Given the description of an element on the screen output the (x, y) to click on. 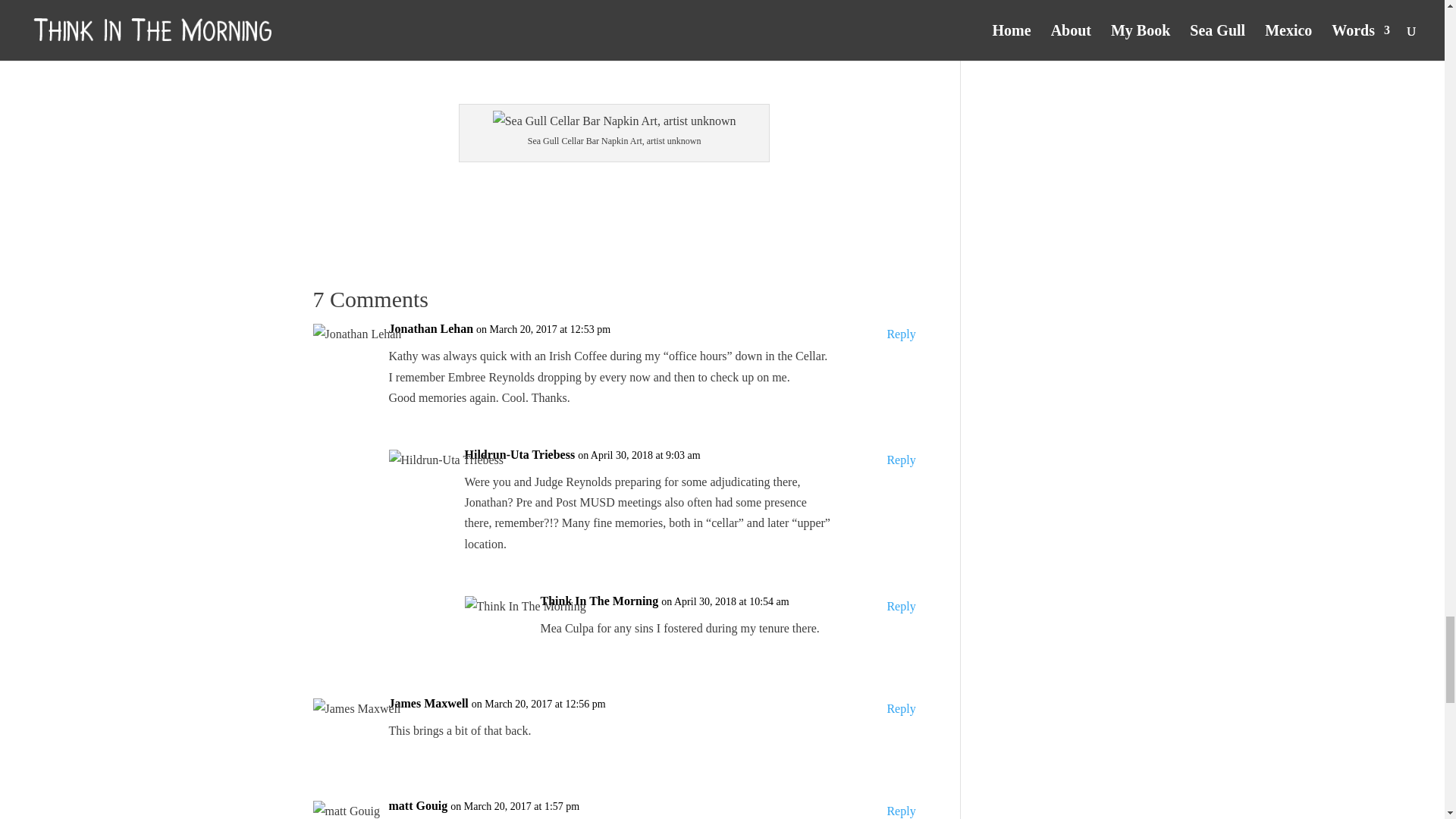
Reply (900, 606)
Reply (900, 809)
Reply (900, 708)
Reply (900, 459)
Reply (900, 333)
James Maxwell (427, 702)
